Given the description of an element on the screen output the (x, y) to click on. 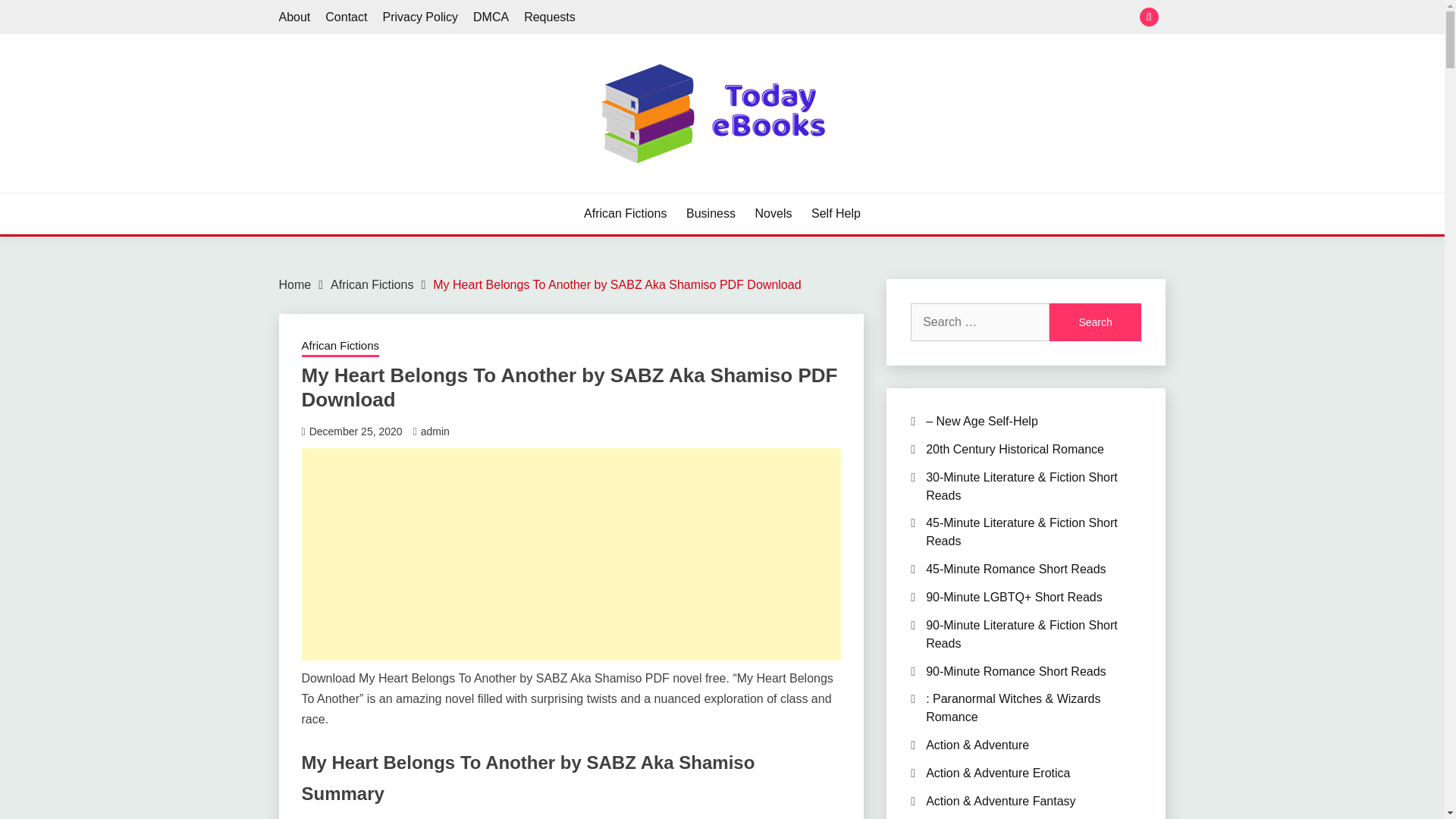
admin (434, 430)
Requests (549, 16)
Advertisement (571, 553)
My Heart Belongs To Another by SABZ Aka Shamiso PDF Download (616, 284)
Privacy Policy (419, 16)
African Fictions (340, 347)
African Fictions (371, 284)
Search (1095, 322)
December 25, 2020 (355, 430)
Novels (773, 213)
